Given the description of an element on the screen output the (x, y) to click on. 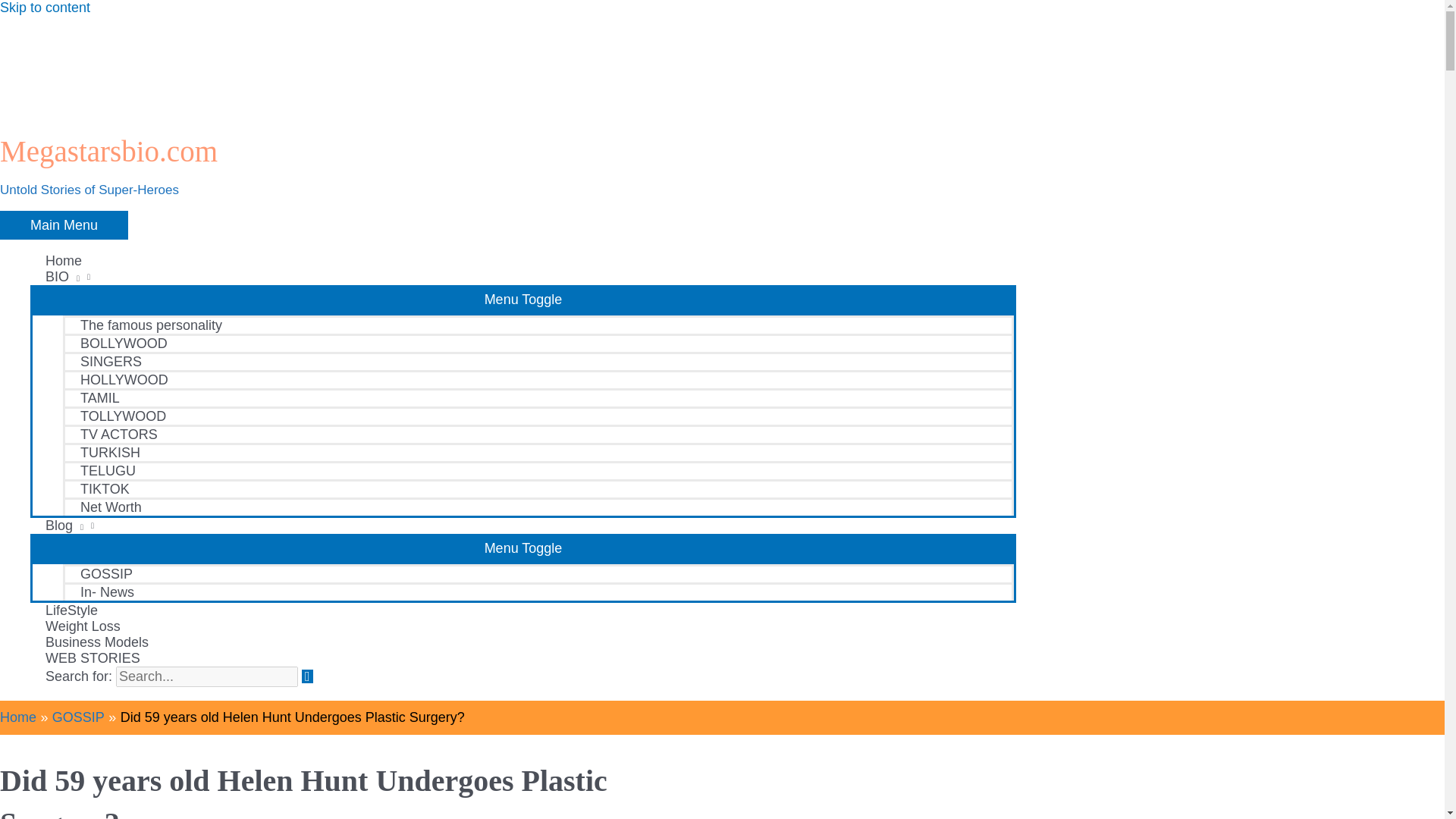
BIO (523, 277)
TOLLYWOOD (537, 415)
TV ACTORS (537, 434)
BOLLYWOOD (537, 342)
TELUGU (537, 470)
Weight Loss (523, 626)
TURKISH (537, 452)
Skip to content (45, 7)
WEB STORIES (523, 658)
Main Menu (64, 224)
